Given the description of an element on the screen output the (x, y) to click on. 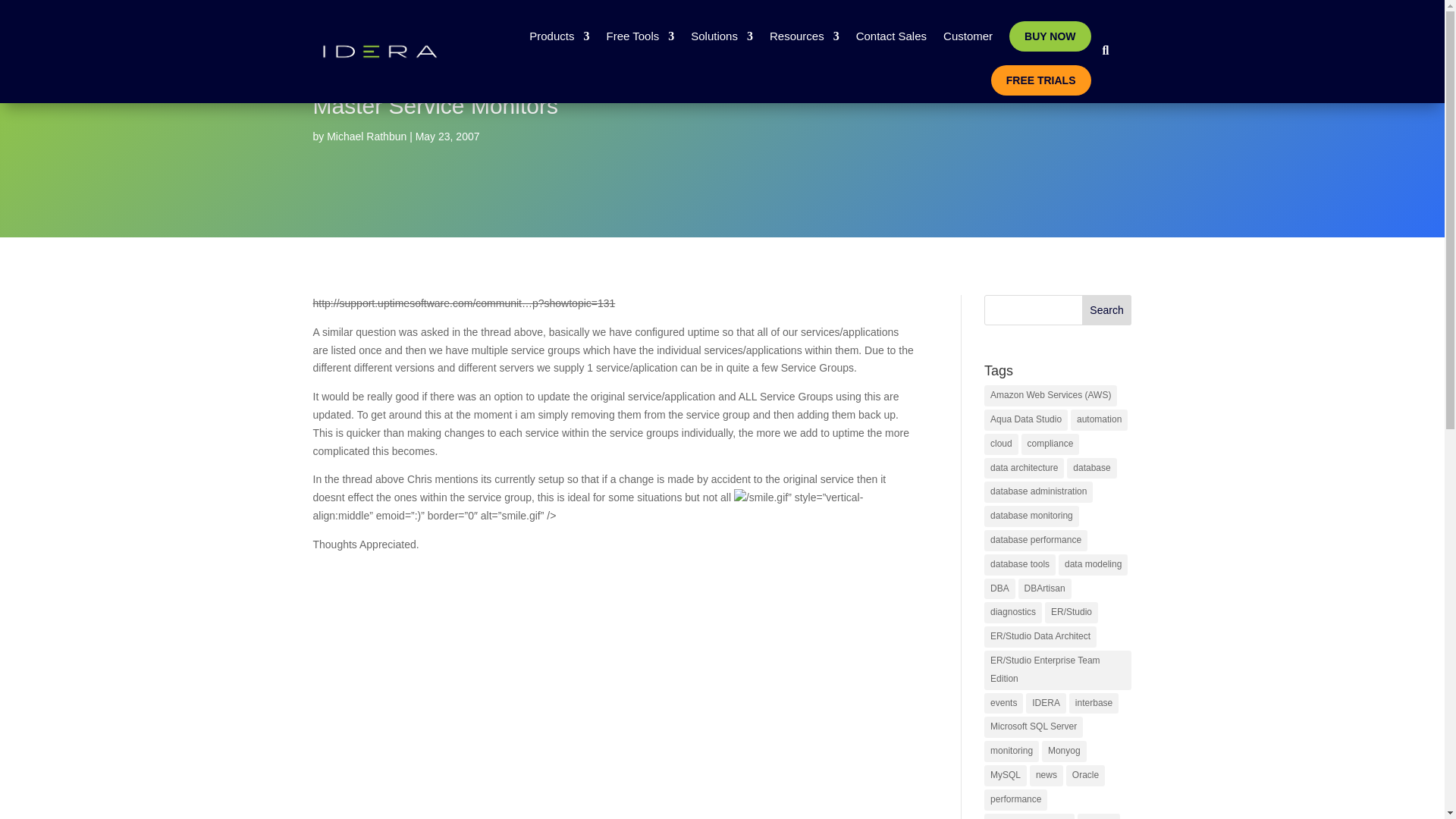
Free Tools (639, 36)
Posts by Michael Rathbun (366, 136)
Search (1106, 309)
Products (559, 36)
Solutions (721, 36)
